Given the description of an element on the screen output the (x, y) to click on. 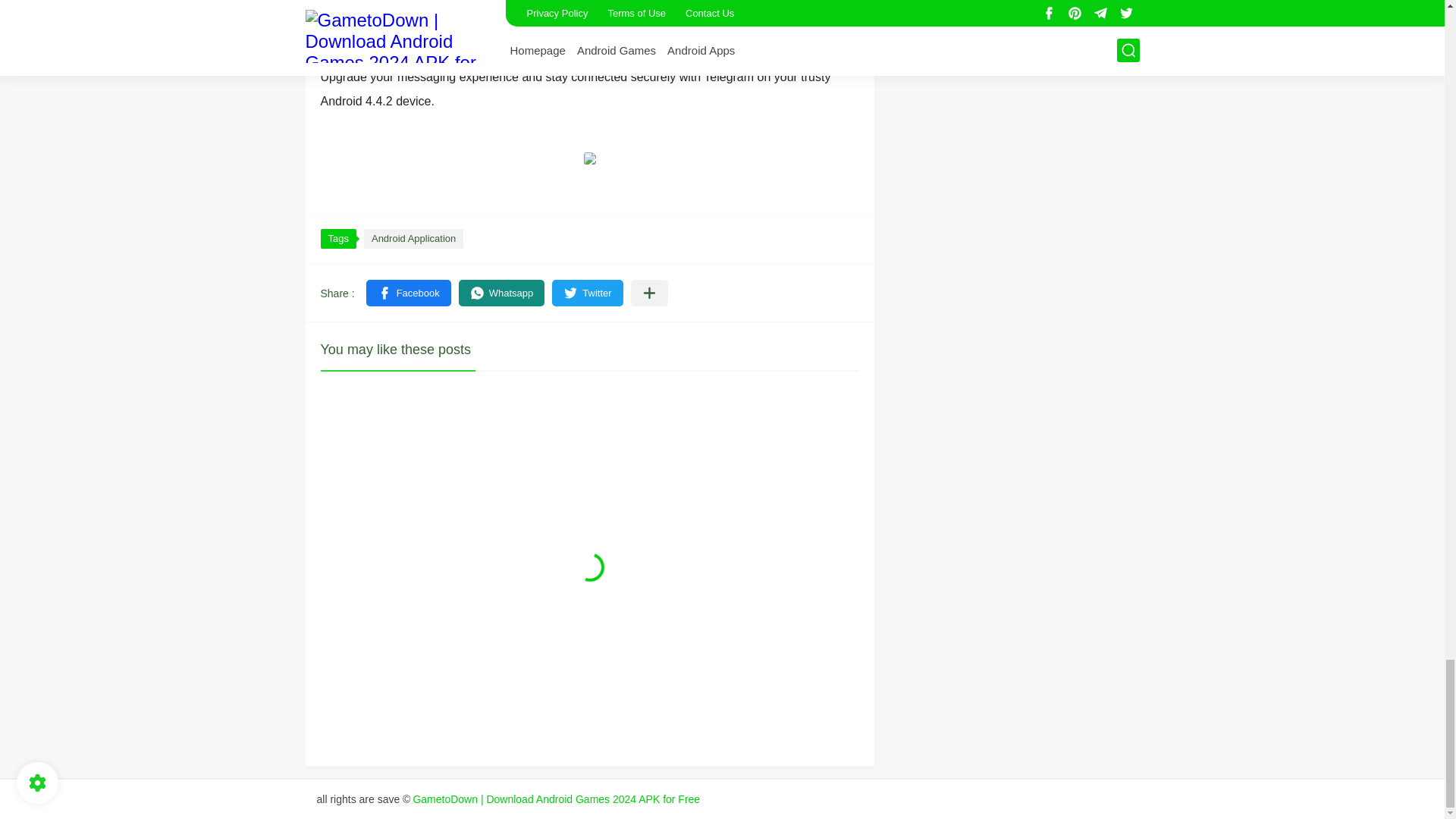
Android Application (413, 238)
here (607, 51)
Android Application (413, 238)
